Given the description of an element on the screen output the (x, y) to click on. 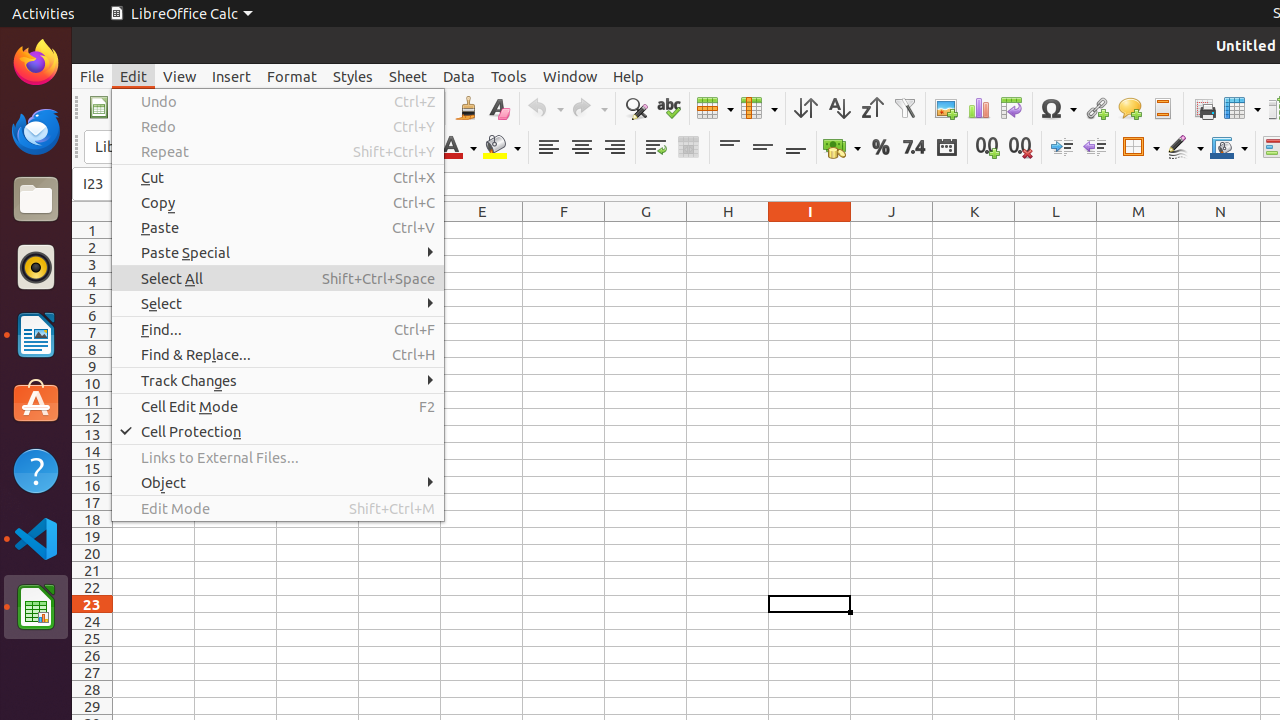
Repeat Element type: menu-item (278, 151)
Clear Element type: push-button (498, 108)
Decrease Element type: push-button (1094, 147)
Tools Element type: menu (509, 76)
Edit Element type: menu (133, 76)
